Given the description of an element on the screen output the (x, y) to click on. 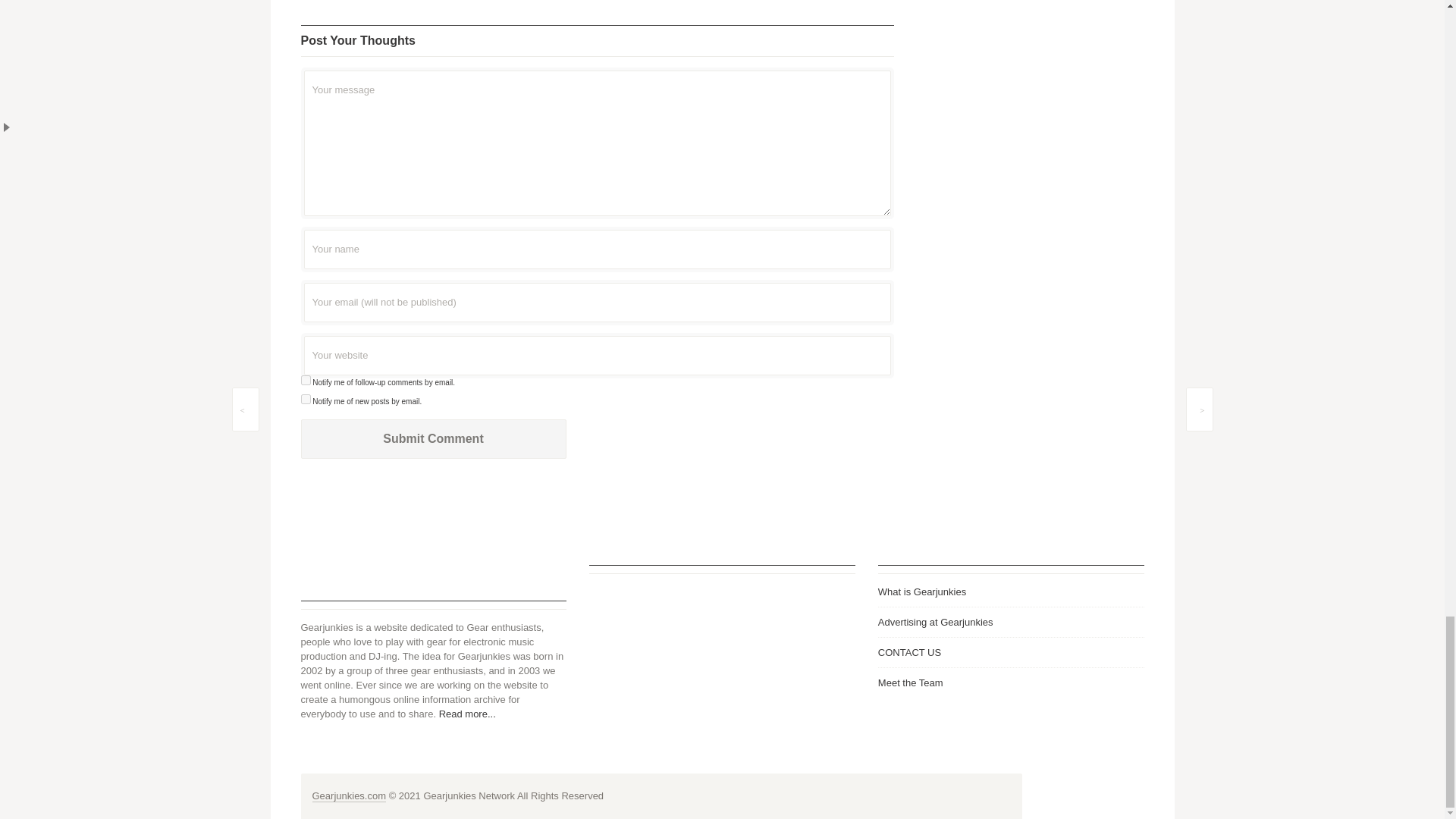
Submit Comment (432, 438)
subscribe (304, 379)
subscribe (304, 398)
